Given the description of an element on the screen output the (x, y) to click on. 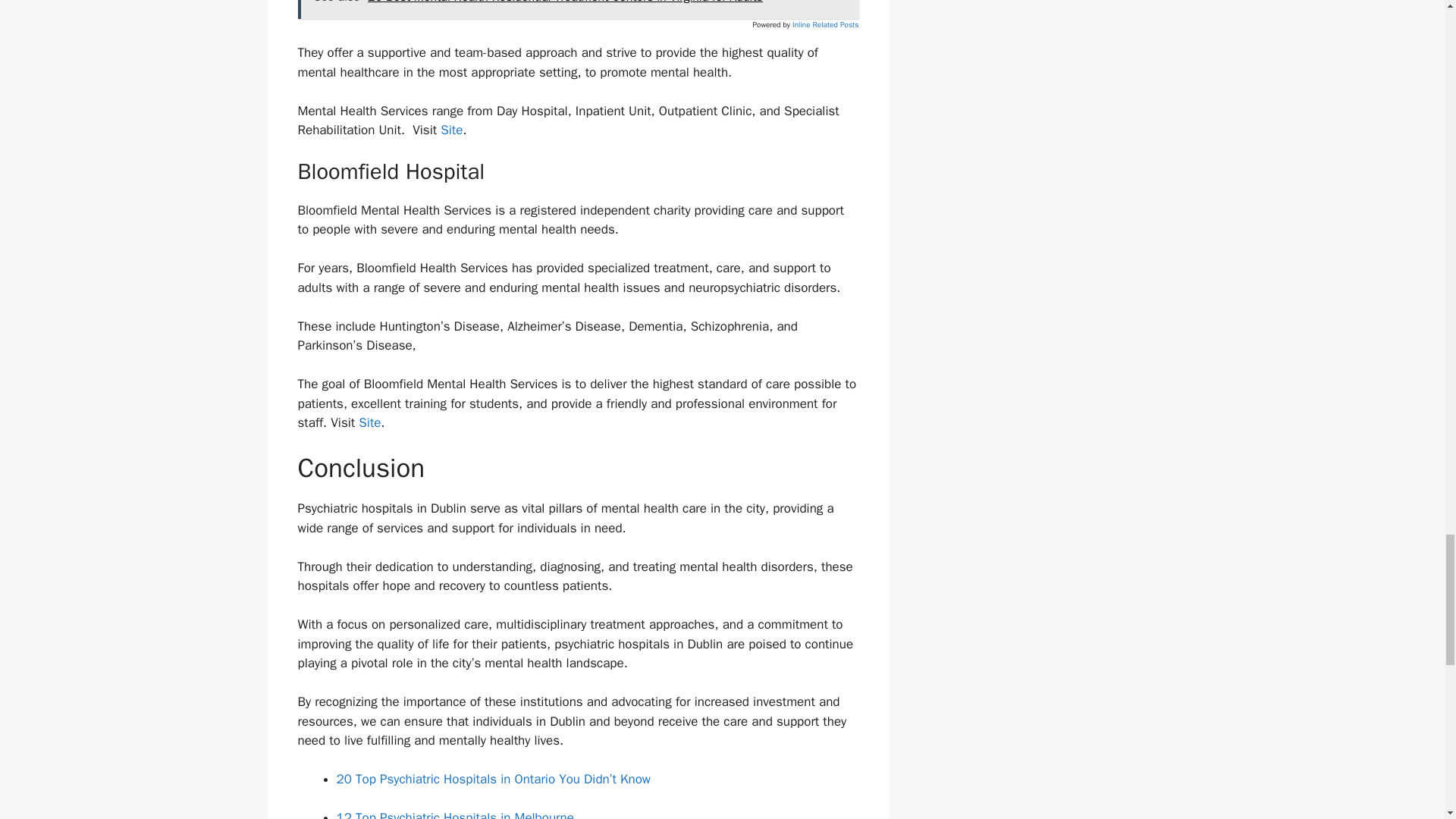
Site (452, 130)
Site (369, 422)
12 Top Psychiatric Hospitals in Melbourne (454, 814)
Inline Related Posts (825, 24)
